Given the description of an element on the screen output the (x, y) to click on. 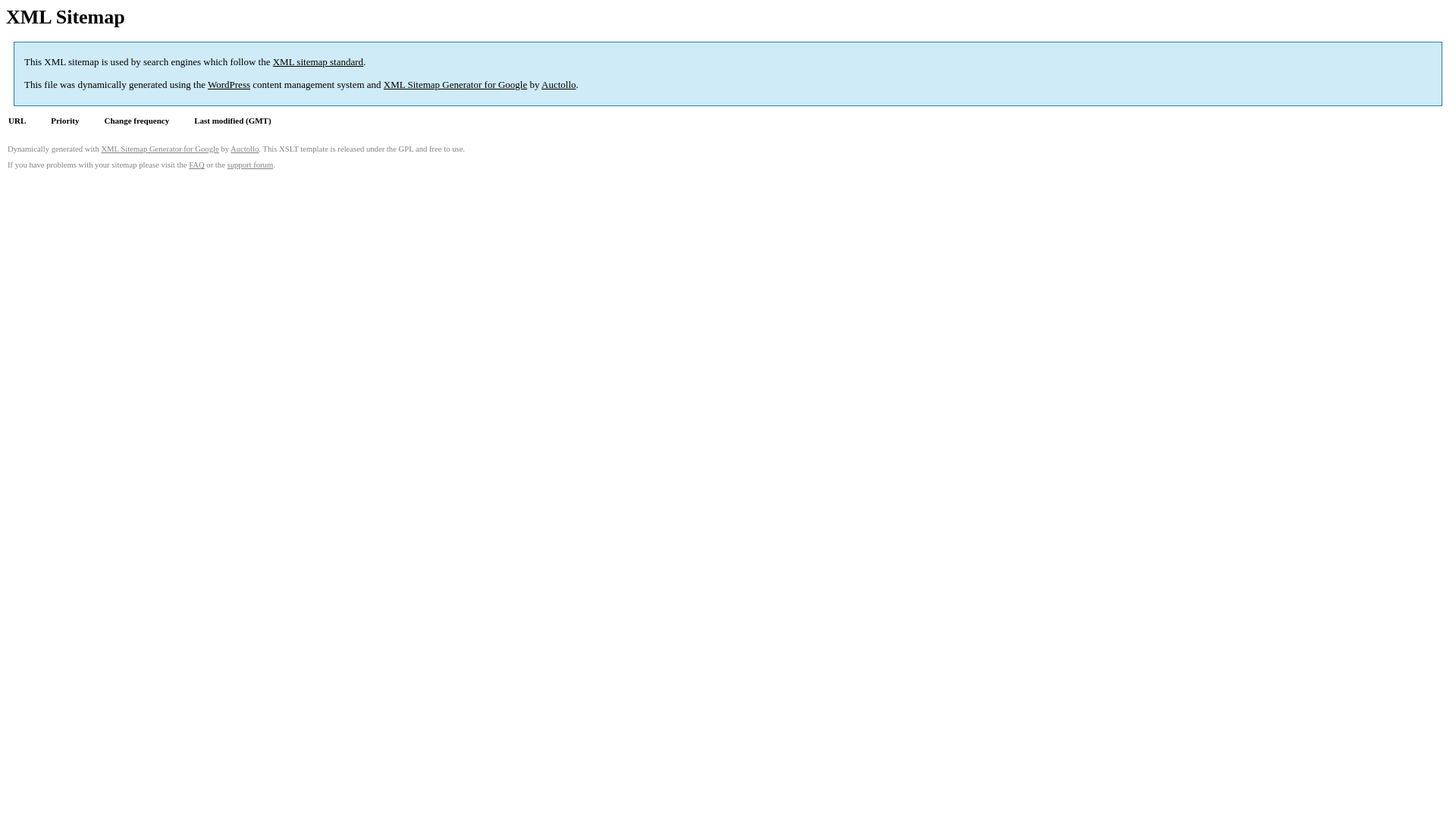
FAQ Element type: text (196, 164)
XML Sitemap Generator for Google Element type: text (159, 148)
support forum Element type: text (250, 164)
WordPress Element type: text (228, 84)
Auctollo Element type: text (244, 148)
XML sitemap standard Element type: text (318, 61)
Auctollo Element type: text (558, 84)
XML Sitemap Generator for Google Element type: text (455, 84)
